Given the description of an element on the screen output the (x, y) to click on. 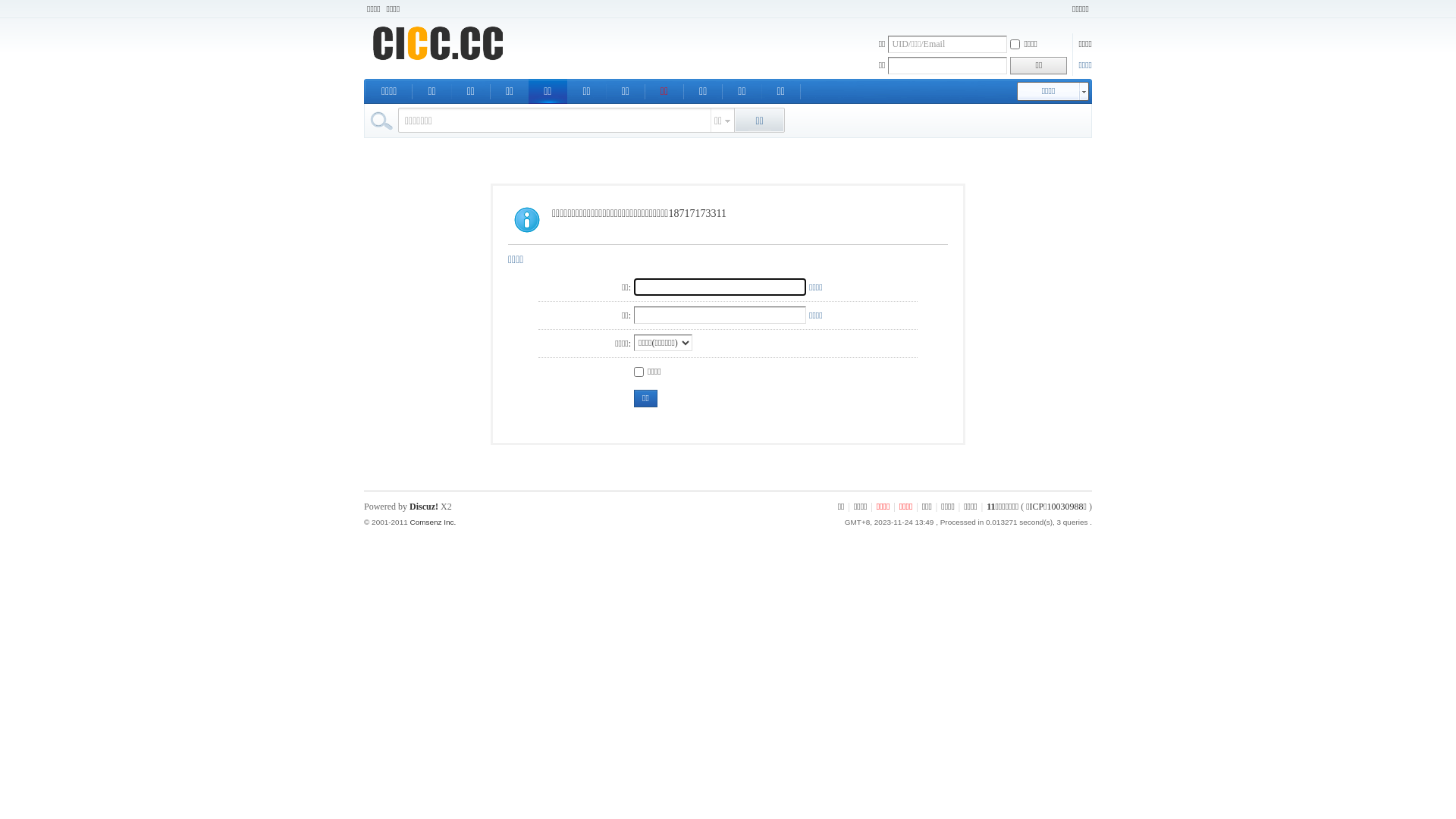
Comsenz Inc. Element type: text (432, 521)
Discuz! Element type: text (423, 506)
